Given the description of an element on the screen output the (x, y) to click on. 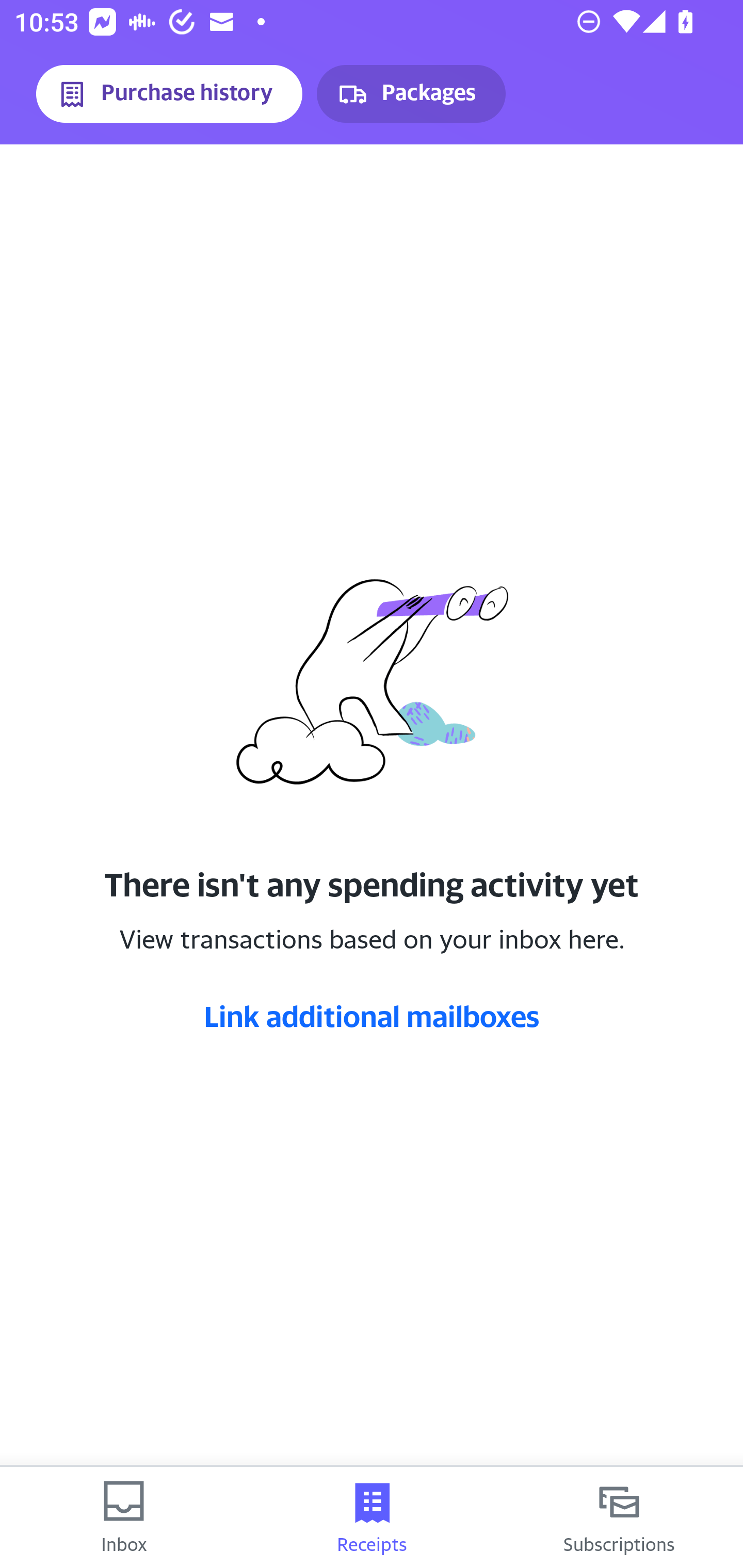
Packages (410, 93)
Link additional mailboxes (371, 1015)
Inbox (123, 1517)
Receipts (371, 1517)
Subscriptions (619, 1517)
